Given the description of an element on the screen output the (x, y) to click on. 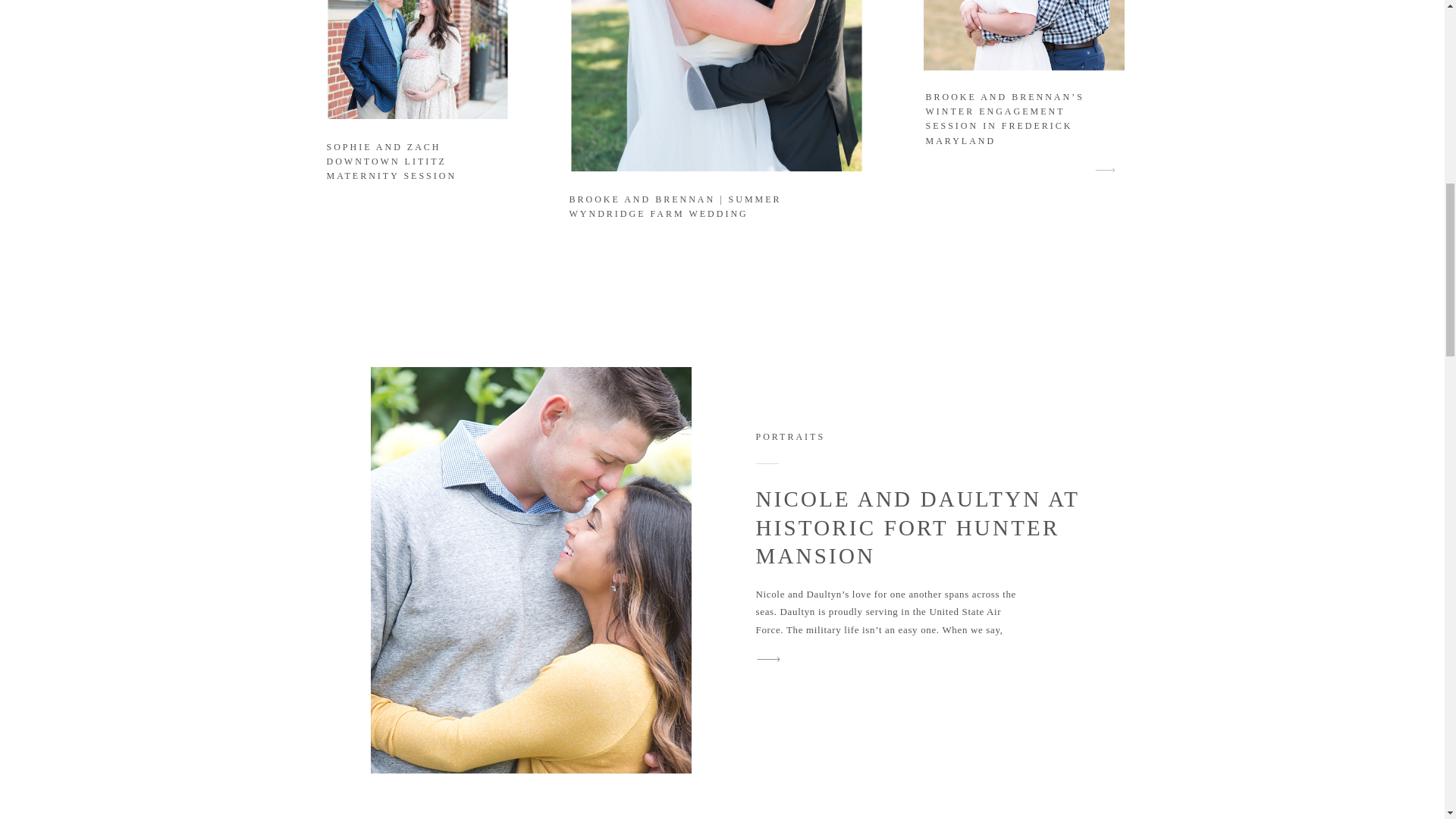
NICOLE AND DAULTYN AT HISTORIC FORT HUNTER MANSION (916, 527)
arrow (1104, 170)
arrow (768, 659)
PORTRAITS (790, 436)
SOPHIE AND ZACH DOWNTOWN LITITZ MATERNITY SESSION (391, 160)
Nicole and Daultyn at Historic Fort Hunter Mansion (768, 659)
Sophie and Zach Downtown Lititz maternity session (417, 59)
arrow (768, 659)
arrow (1104, 170)
